Given the description of an element on the screen output the (x, y) to click on. 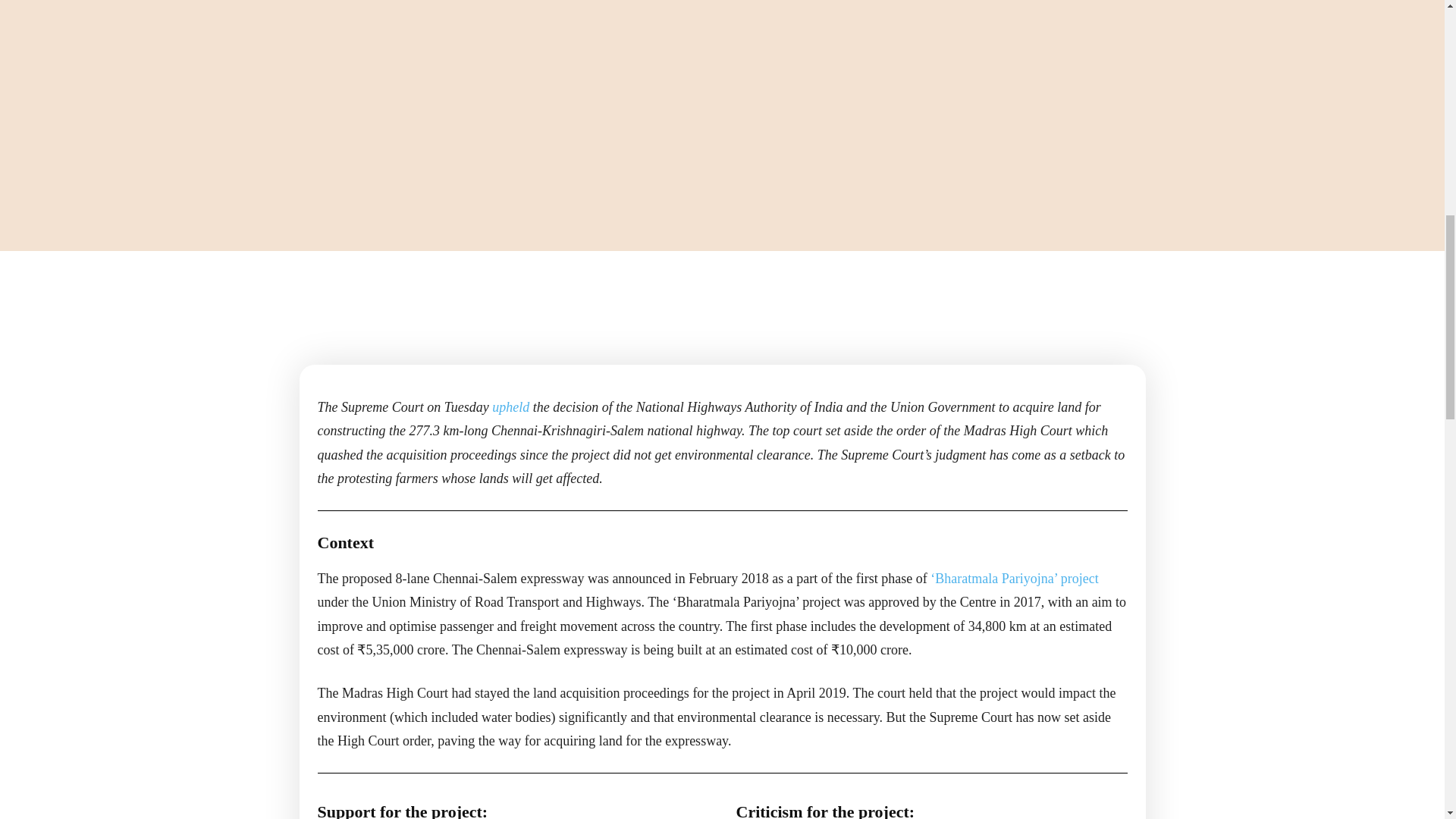
upheld (510, 406)
